Given the description of an element on the screen output the (x, y) to click on. 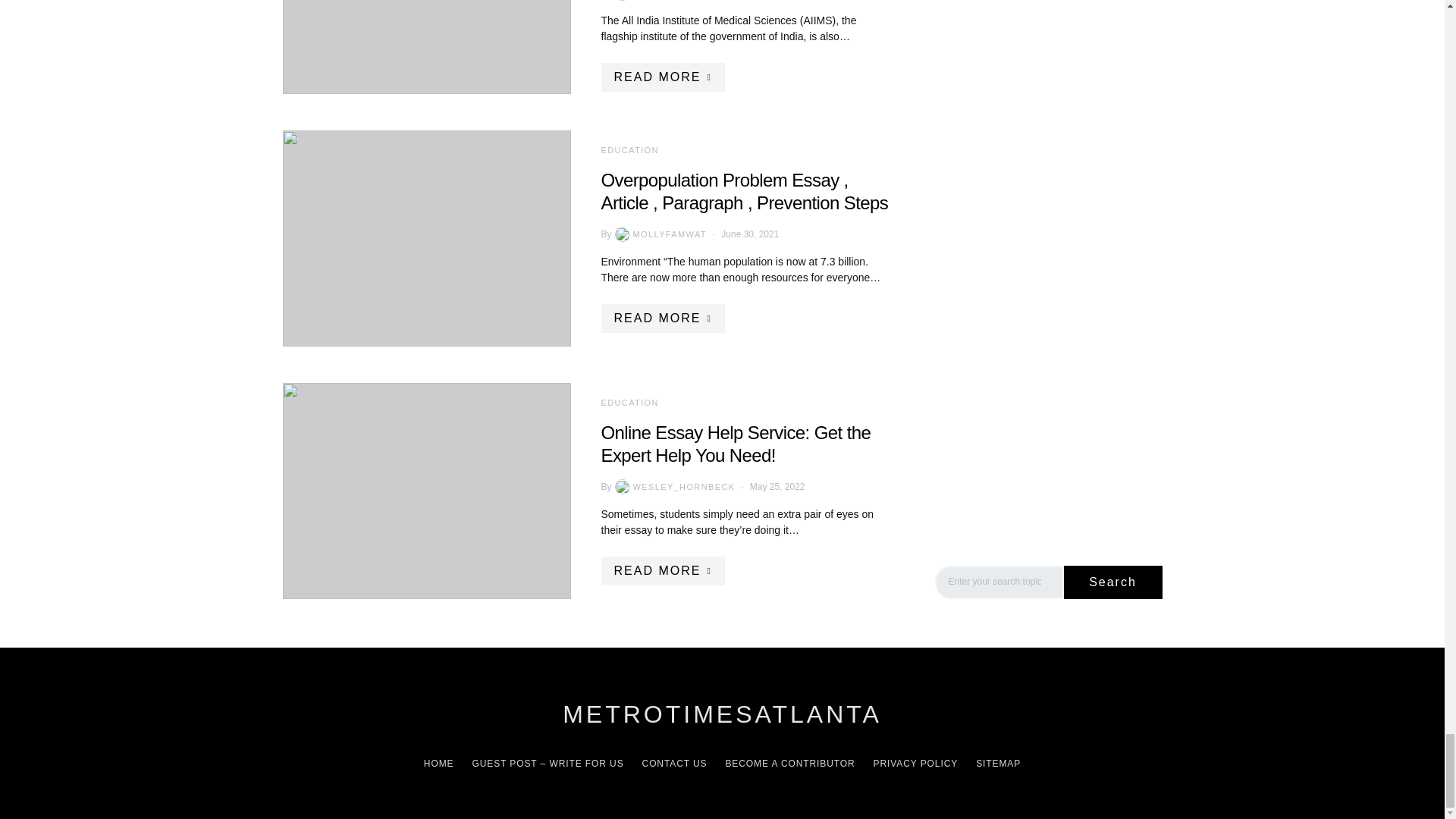
View all posts by mollyfamwat (658, 233)
